Given the description of an element on the screen output the (x, y) to click on. 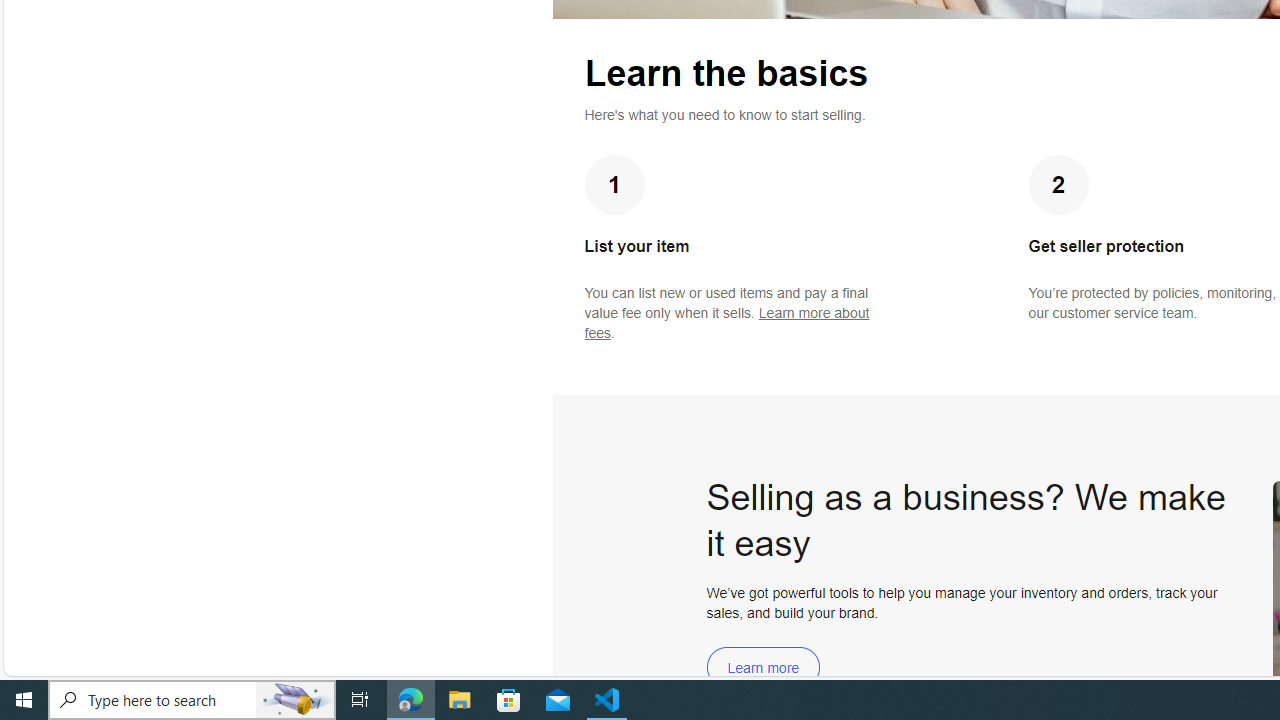
Learn more (763, 667)
Learn more about fees - opens in new window or tab. (726, 323)
